Given the description of an element on the screen output the (x, y) to click on. 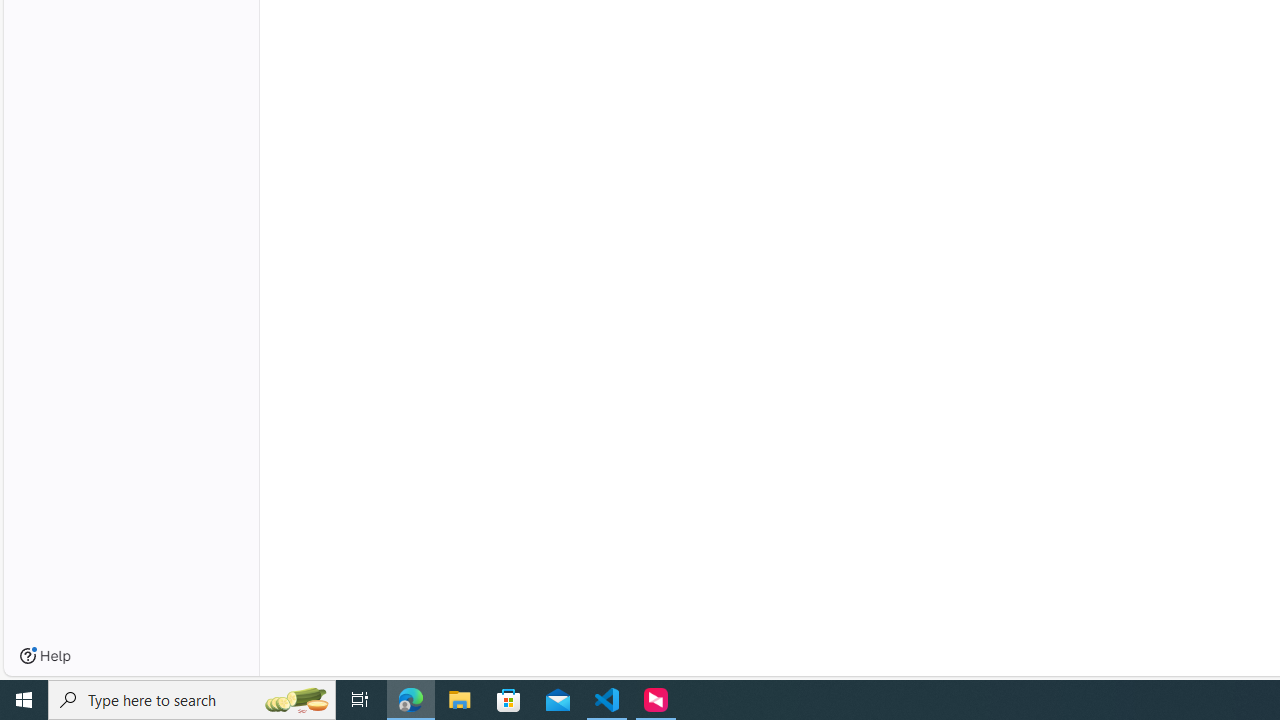
Help (45, 655)
